Given the description of an element on the screen output the (x, y) to click on. 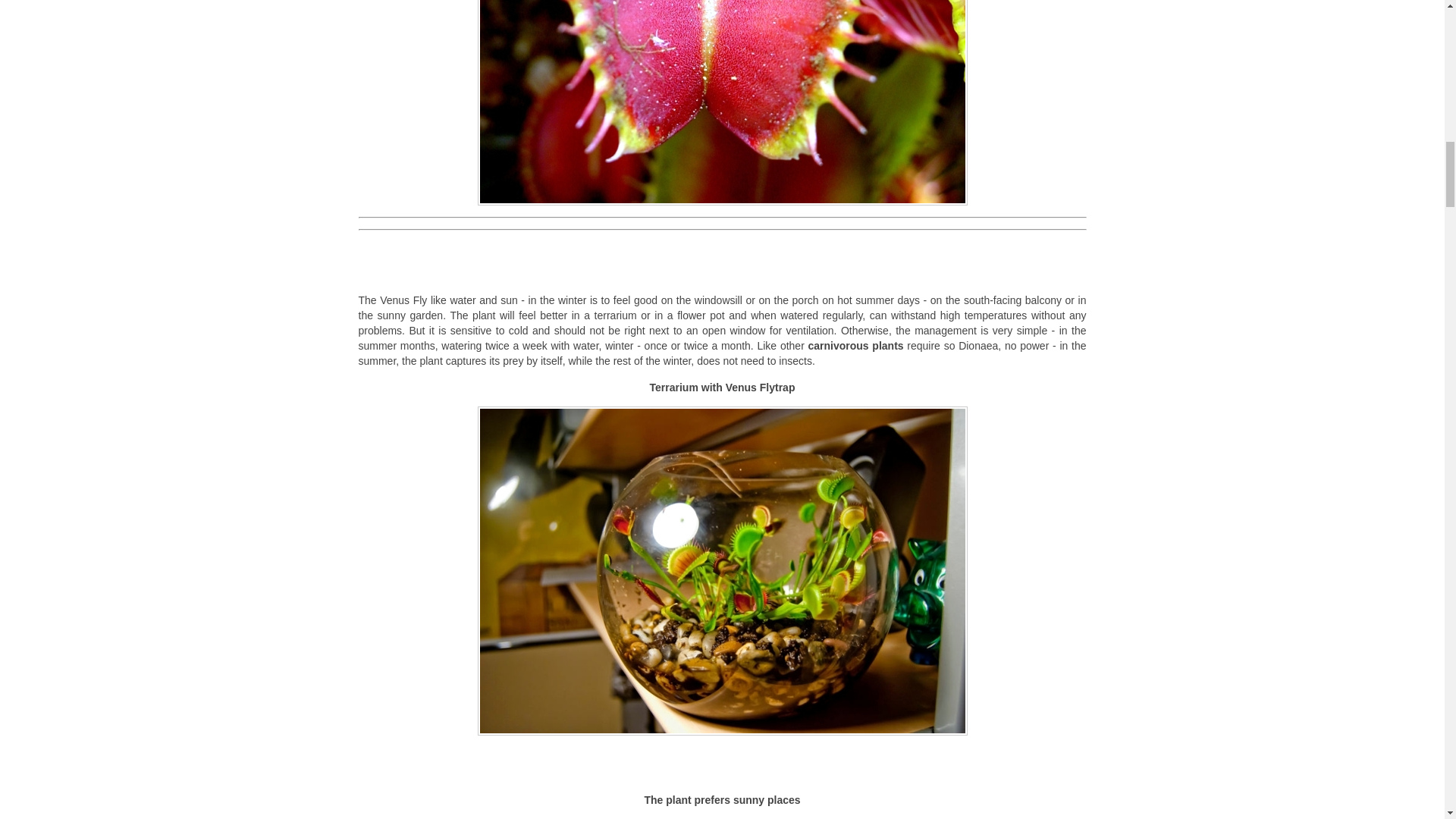
Care carnivorous plants - Venus Flytrap (722, 102)
